Given the description of an element on the screen output the (x, y) to click on. 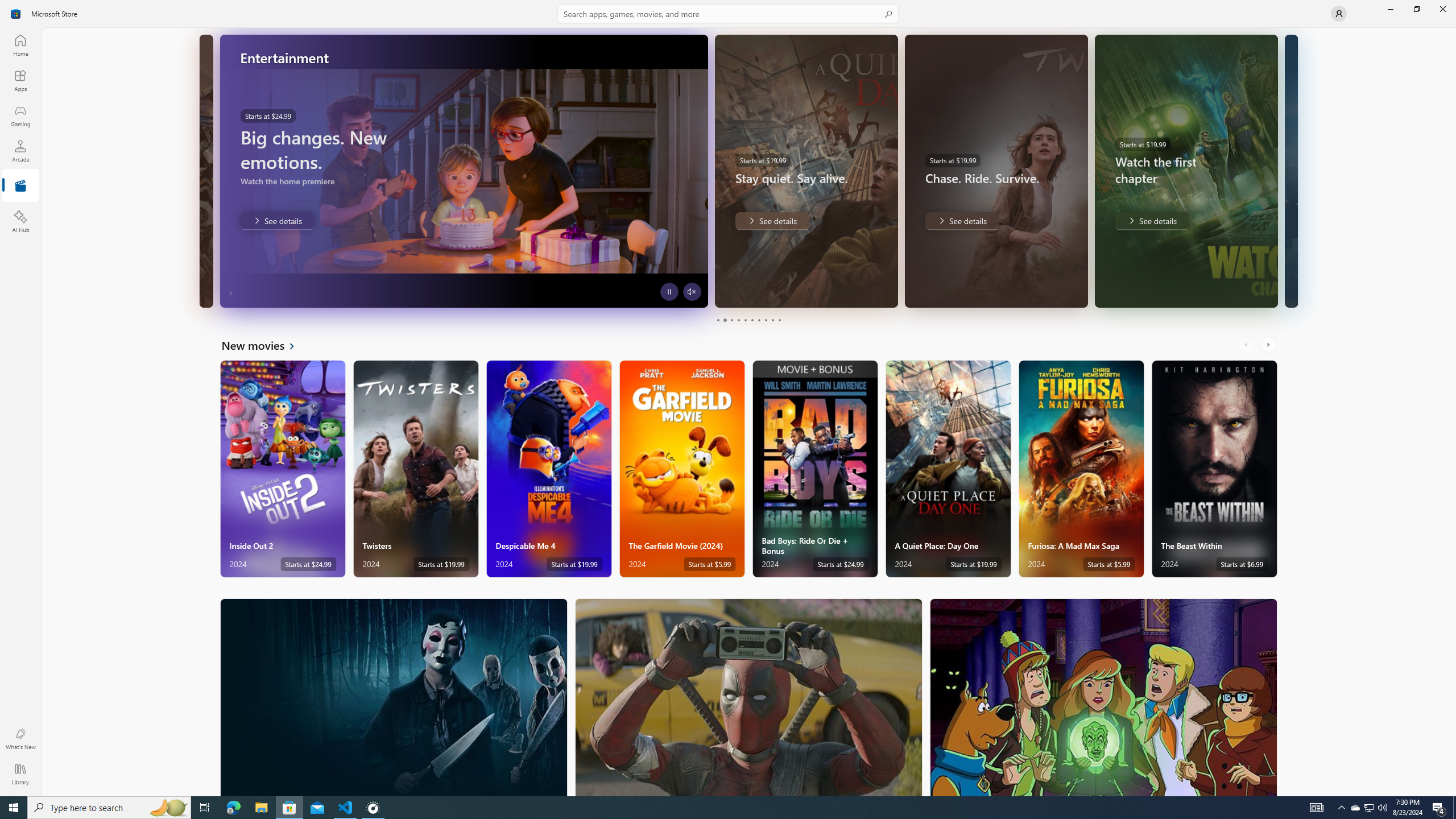
Family (1102, 697)
Page 7 (758, 319)
AutomationID: RightScrollButton (1269, 344)
AutomationID: LeftScrollButton (1246, 344)
AutomationID: Image (1292, 170)
Search (727, 13)
Unmute (202, 291)
Page 9 (772, 319)
